Given the description of an element on the screen output the (x, y) to click on. 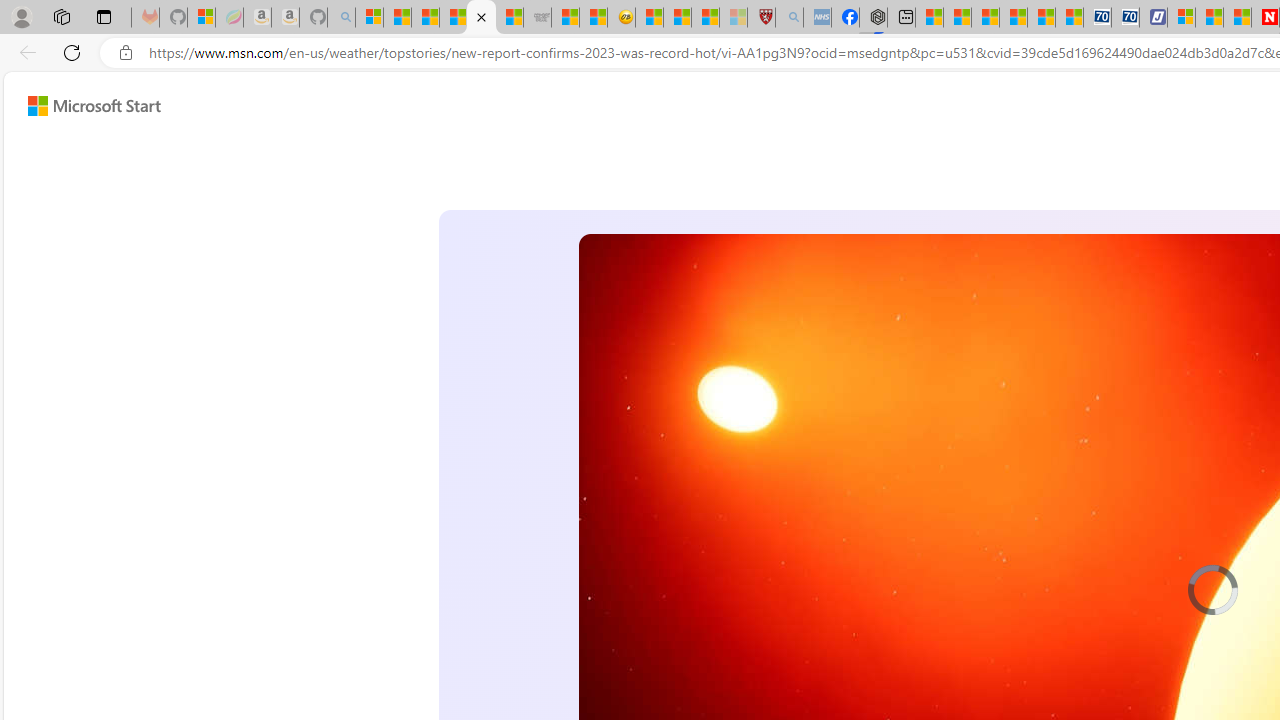
The Weather Channel - MSN (425, 17)
